Given the description of an element on the screen output the (x, y) to click on. 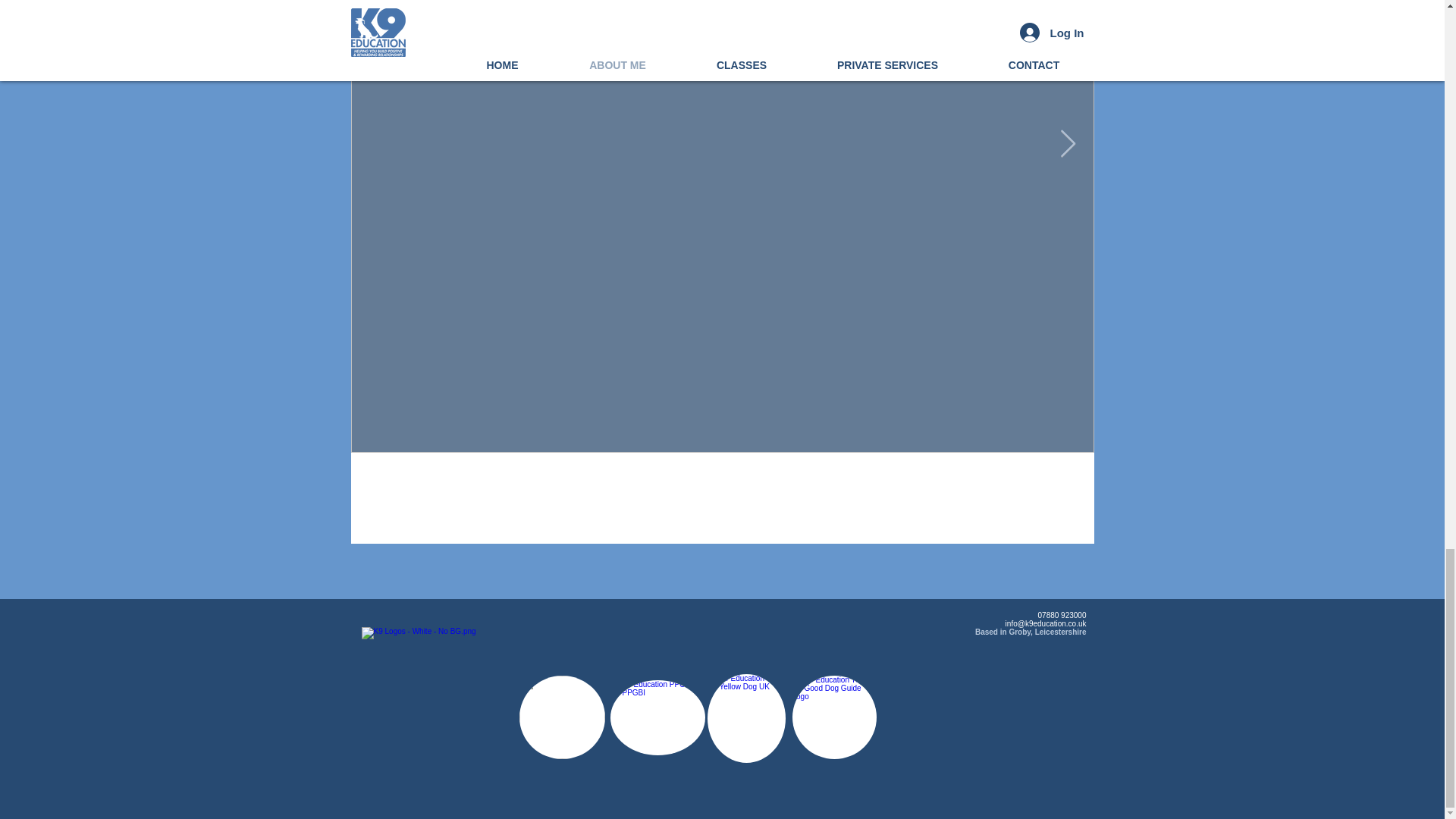
K9 Logos - Colour - No BG.png (437, 696)
